Given the description of an element on the screen output the (x, y) to click on. 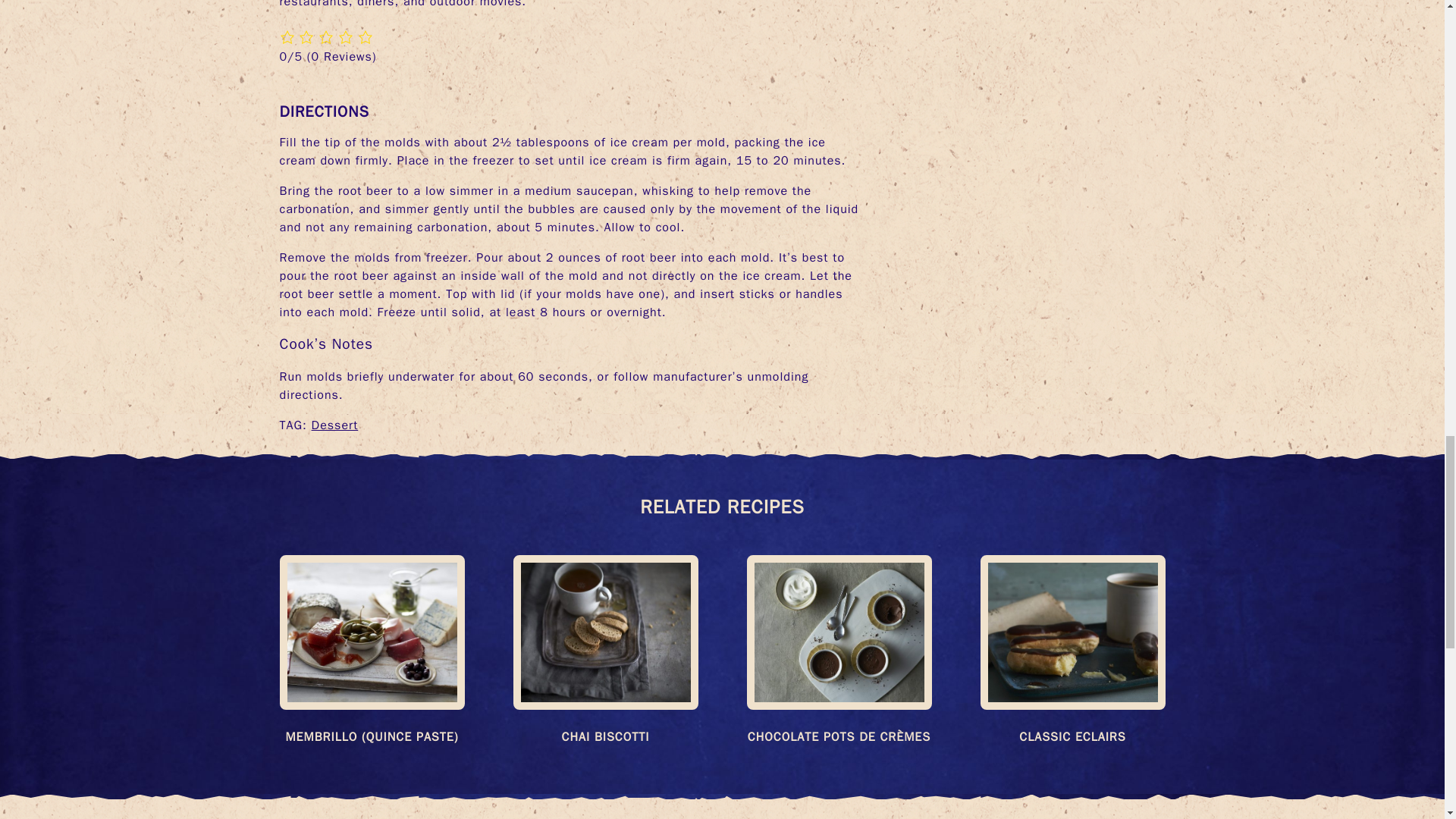
CLASSIC ECLAIRS (1071, 737)
CHAI BISCOTTI (604, 737)
Dessert (334, 425)
